Given the description of an element on the screen output the (x, y) to click on. 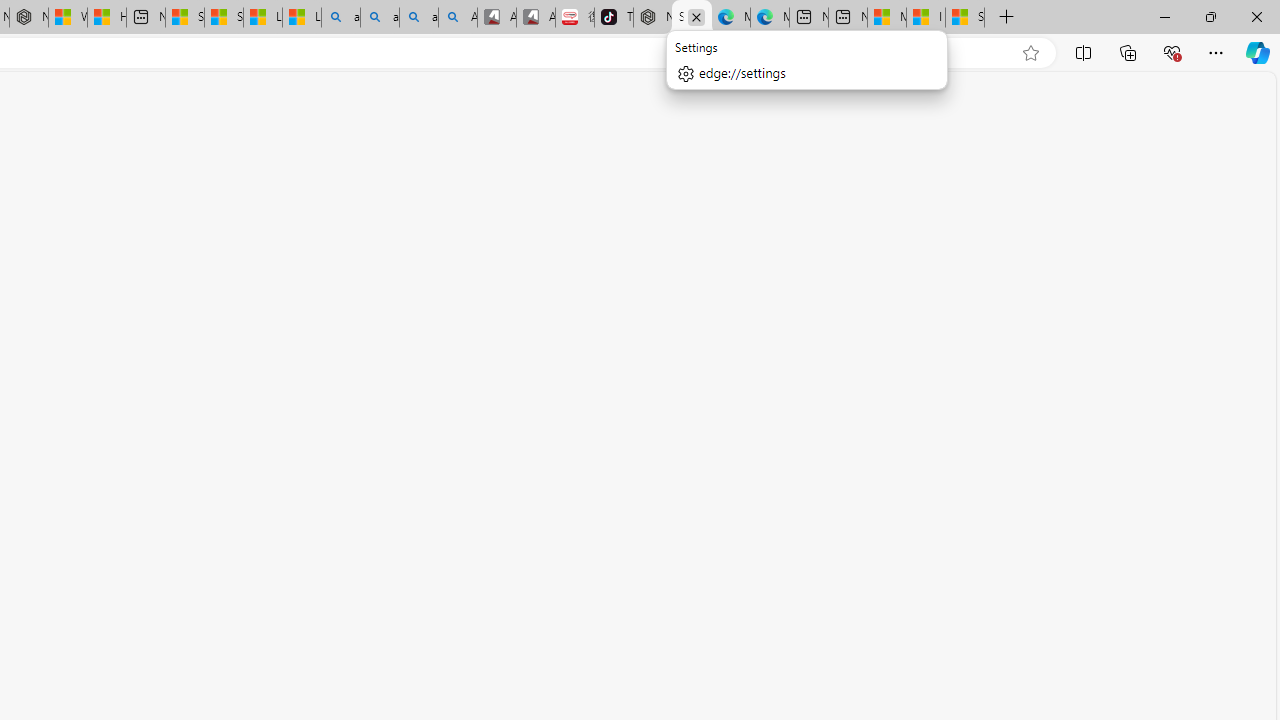
I Gained 20 Pounds of Muscle in 30 Days! | Watch (925, 17)
Amazon Echo Robot - Search Images (458, 17)
amazon - Search Images (418, 17)
